Given the description of an element on the screen output the (x, y) to click on. 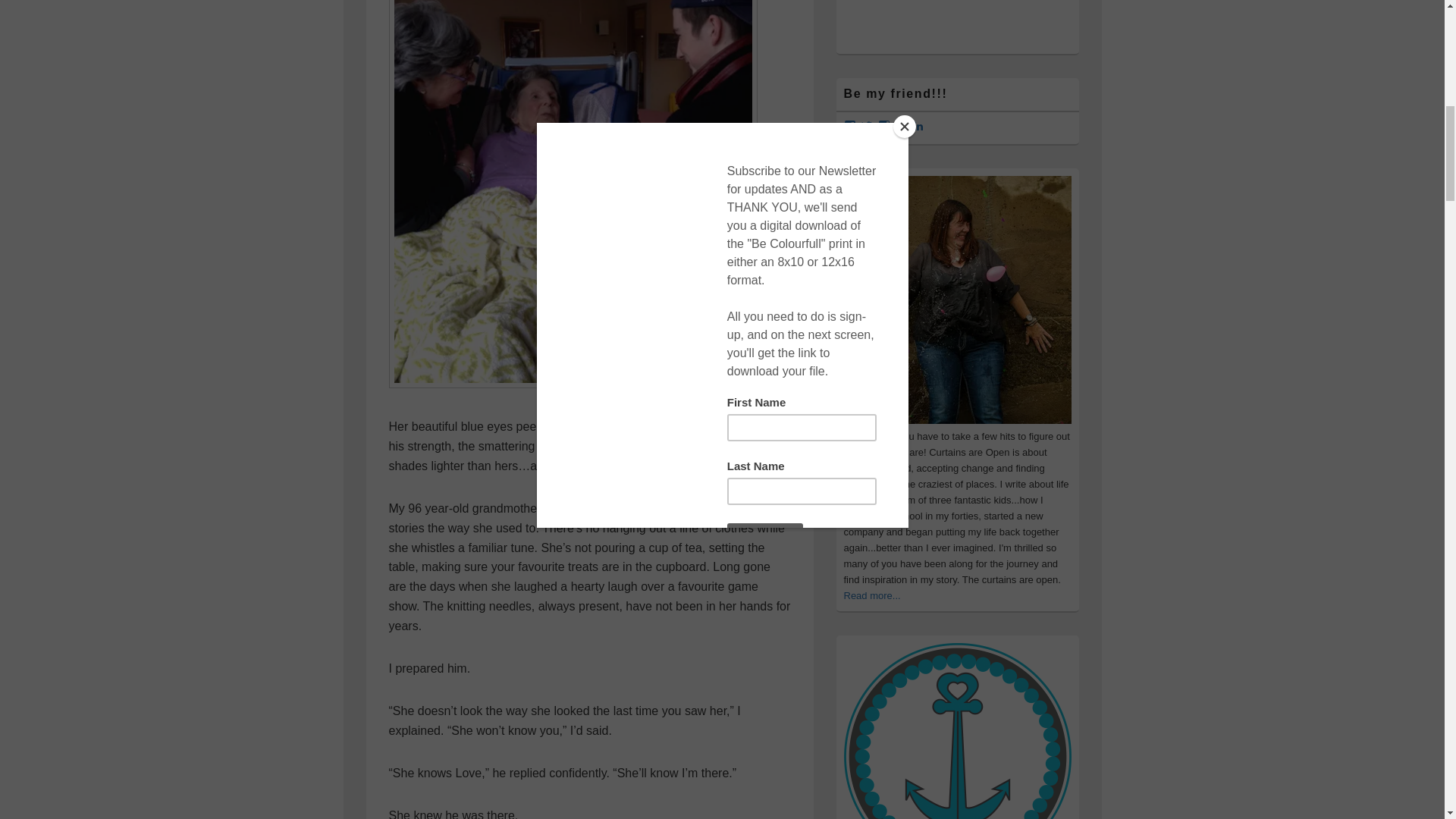
Advertisement (956, 20)
